Given the description of an element on the screen output the (x, y) to click on. 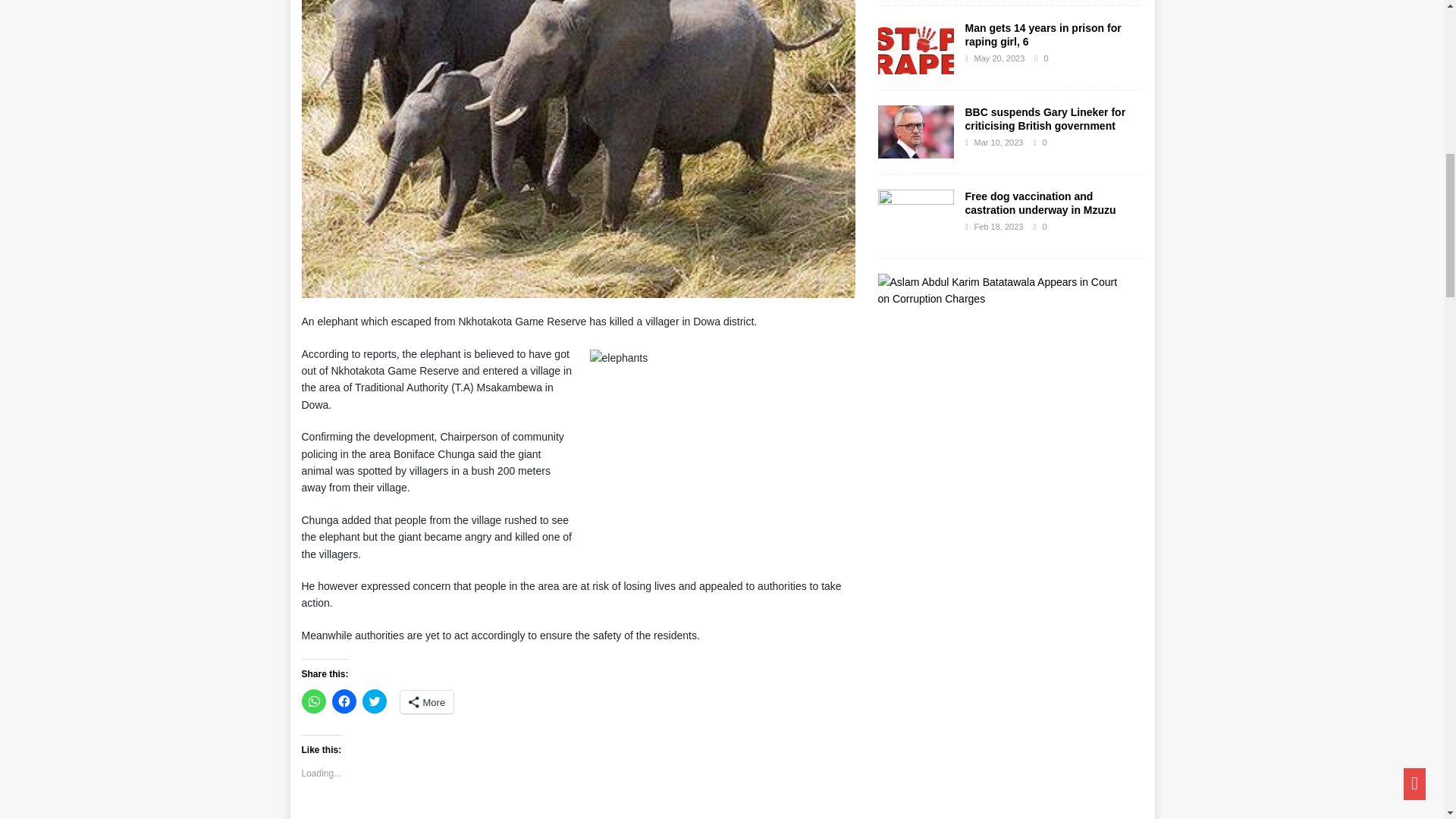
Click to share on WhatsApp (313, 701)
Click to share on Facebook (343, 701)
